Given the description of an element on the screen output the (x, y) to click on. 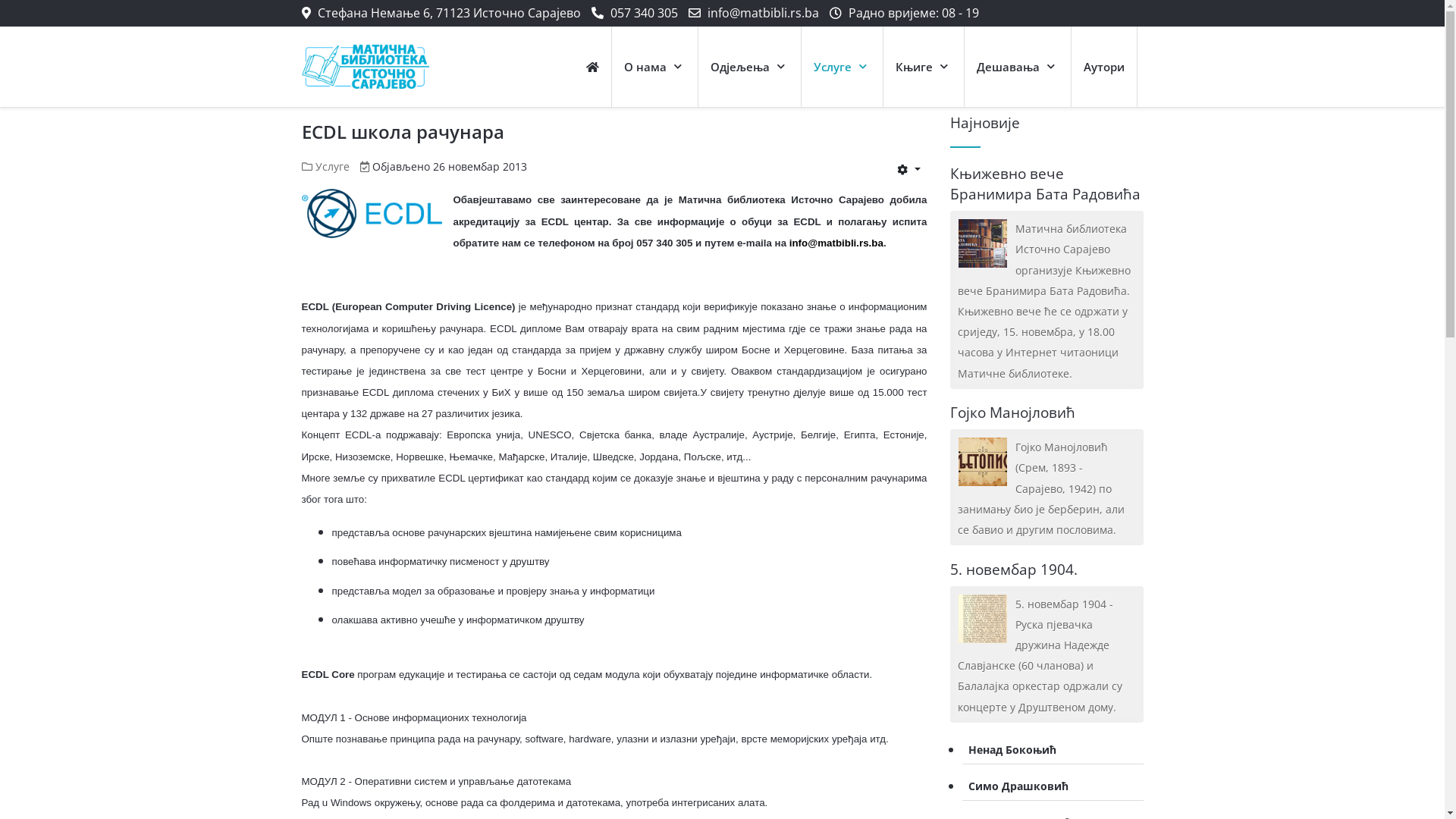
info@matbibli.rs.ba Element type: text (836, 242)
057 340 305 Element type: text (643, 12)
info@matbibli.rs.ba Element type: text (762, 12)
